Given the description of an element on the screen output the (x, y) to click on. 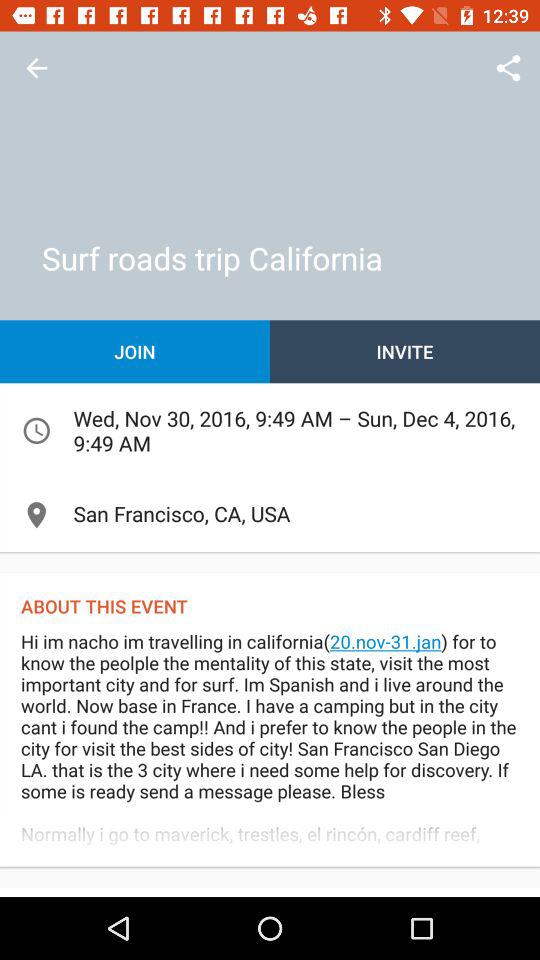
select item at the top left corner (36, 68)
